Given the description of an element on the screen output the (x, y) to click on. 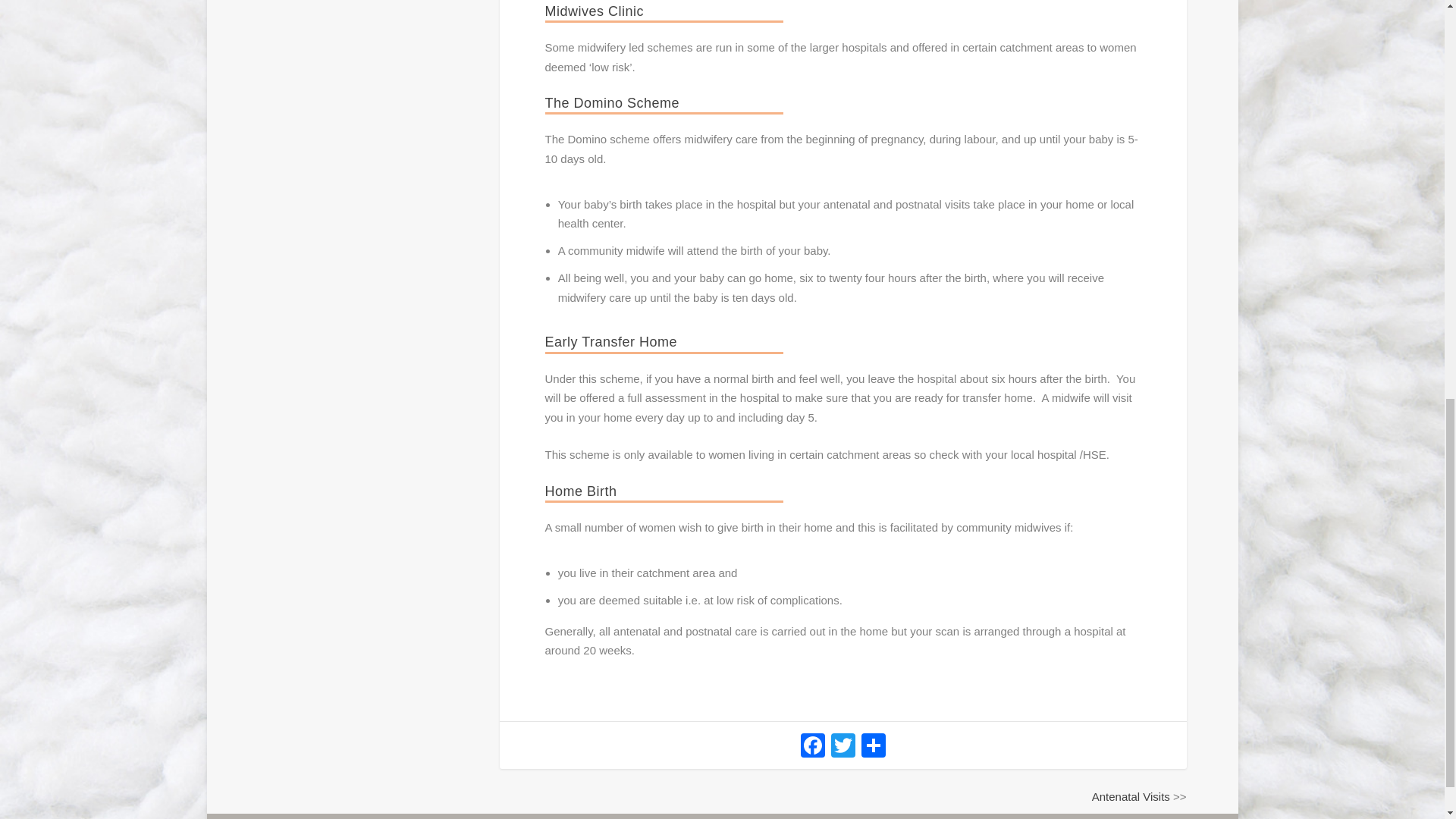
Twitter (843, 747)
Facebook (812, 747)
